Given the description of an element on the screen output the (x, y) to click on. 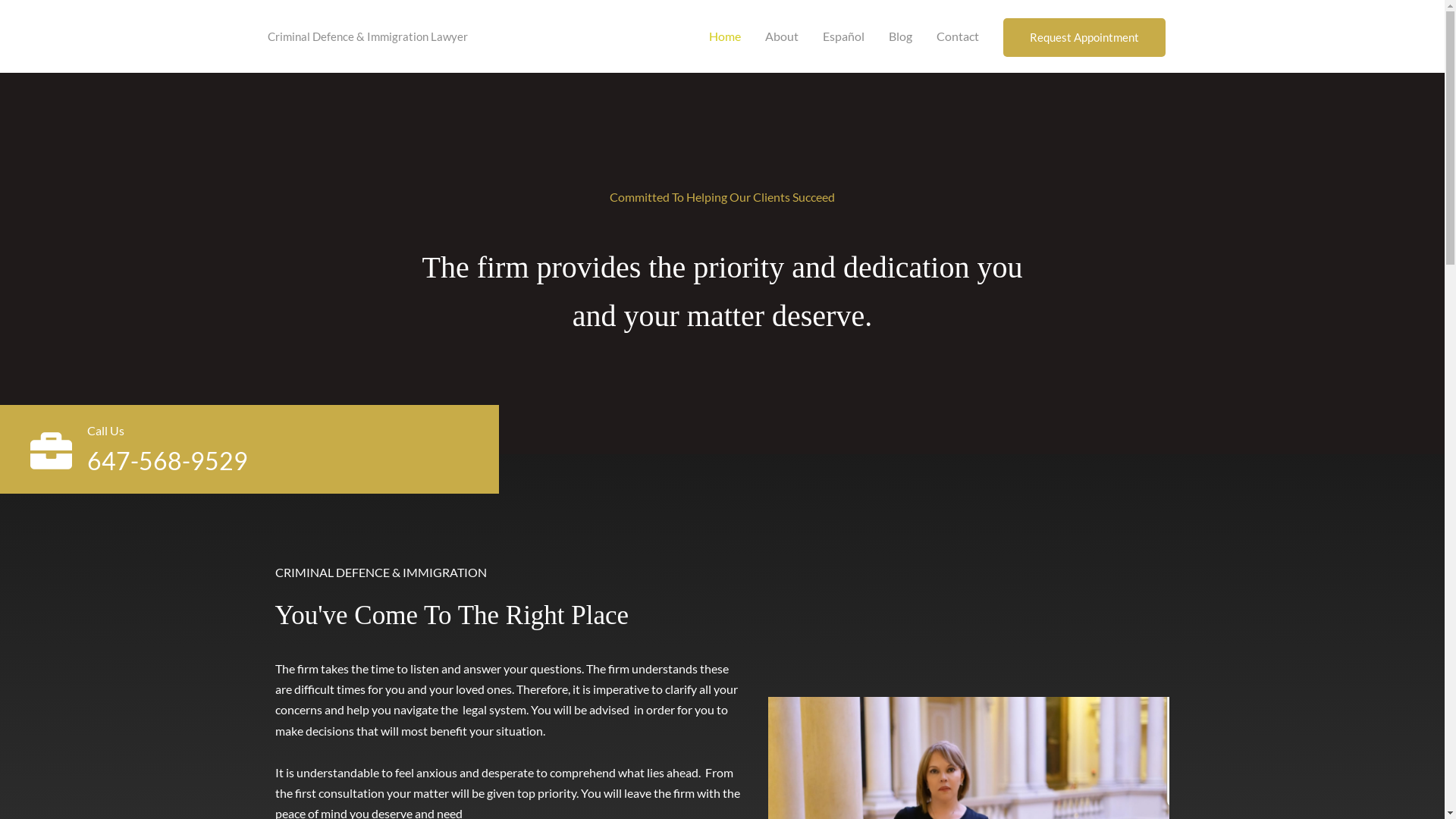
Blog Element type: text (900, 36)
Call Us Element type: text (105, 430)
About Element type: text (780, 36)
Contact Element type: text (956, 36)
Request Appointment Element type: text (1083, 37)
Home Element type: text (724, 36)
